Given the description of an element on the screen output the (x, y) to click on. 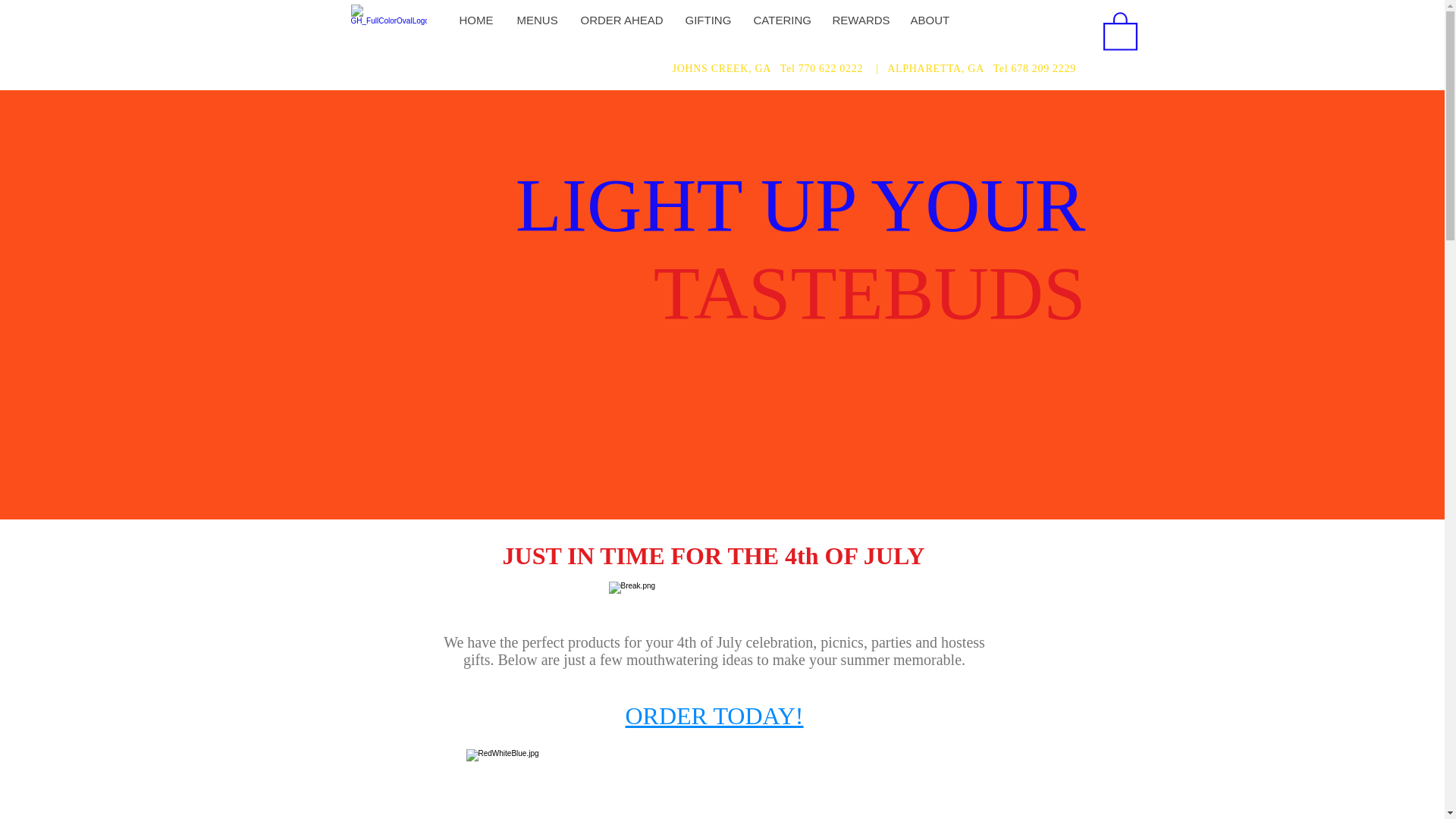
REWARDS (859, 19)
ORDER AHEAD (620, 19)
HOME (474, 19)
GIFTING (706, 19)
MENUS (537, 19)
CATERING (781, 19)
ABOUT (928, 19)
ORDER TODAY! (713, 715)
